Given the description of an element on the screen output the (x, y) to click on. 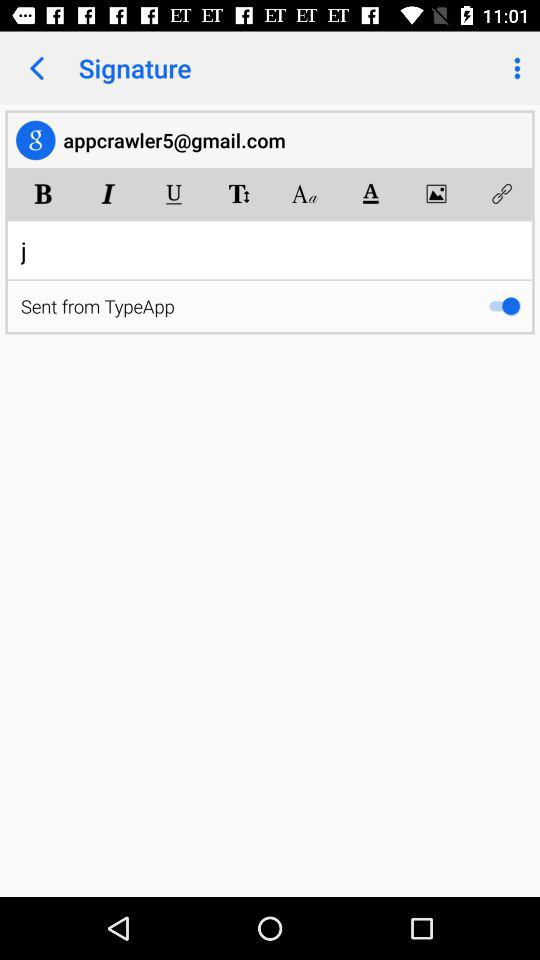
jump until the j item (269, 250)
